Given the description of an element on the screen output the (x, y) to click on. 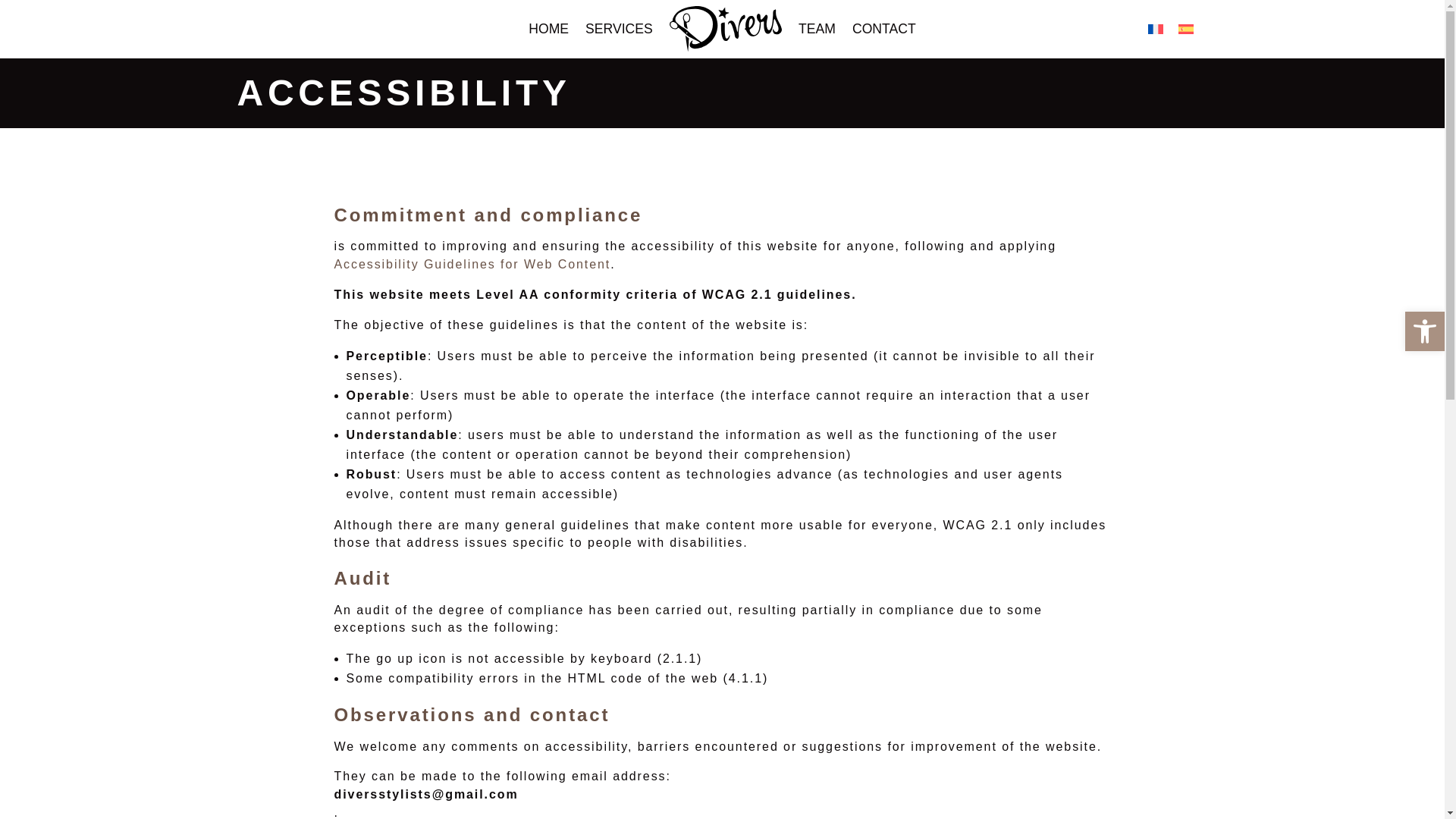
SERVICES (618, 28)
CONTACT (883, 28)
Accessibility Guidelines for Web Content (471, 264)
Accessibility Tools (1424, 331)
